Given the description of an element on the screen output the (x, y) to click on. 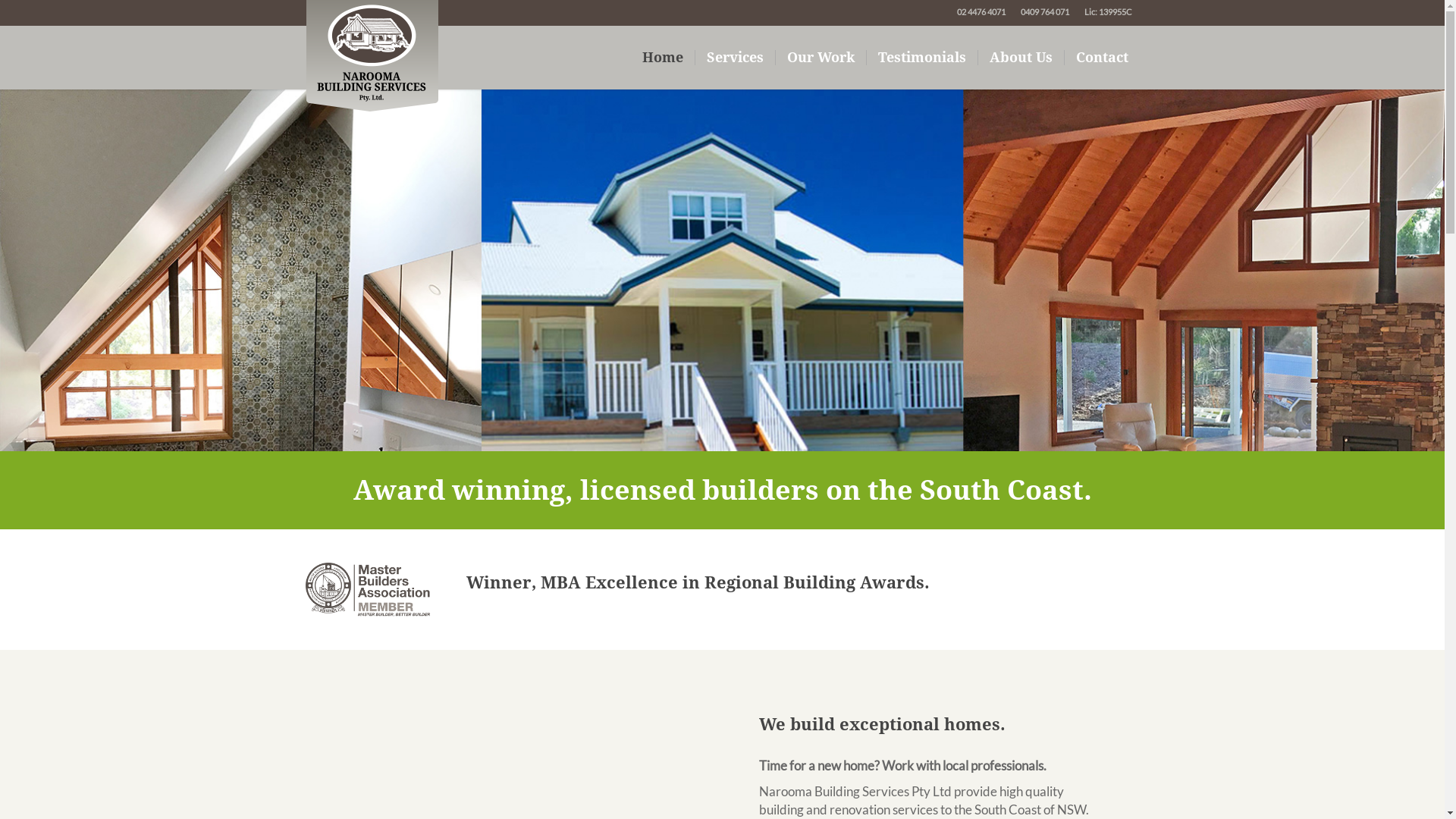
Contact Element type: text (1101, 57)
0409 764 071 Element type: text (1044, 11)
Lic: 139955C Element type: text (1107, 11)
Our Work Element type: text (820, 57)
Services Element type: text (734, 57)
Testimonials Element type: text (921, 57)
Home Element type: text (662, 57)
About Us Element type: text (1021, 57)
02 4476 4071 Element type: text (981, 11)
